Given the description of an element on the screen output the (x, y) to click on. 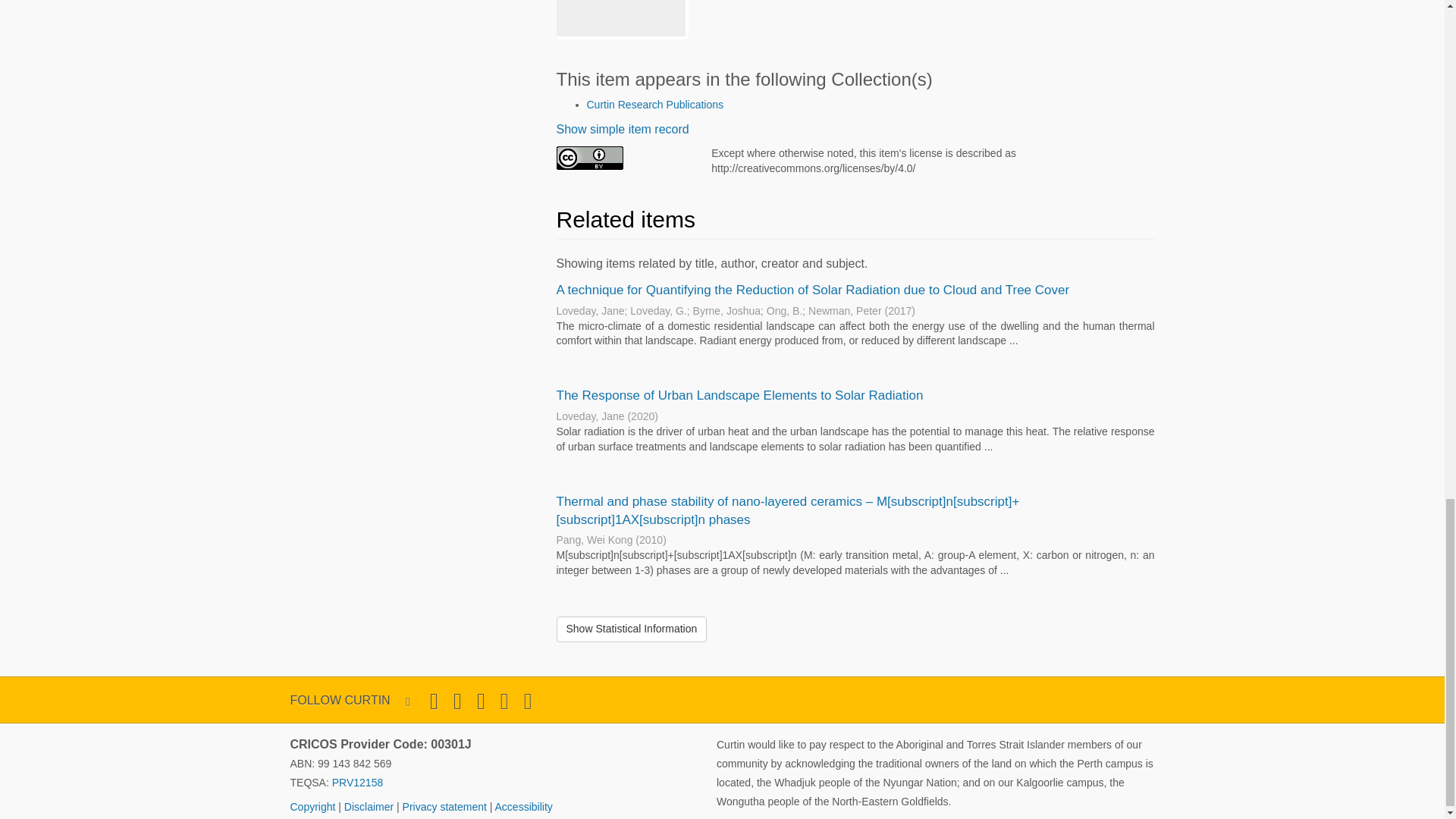
Curtin Research Publications (654, 104)
The Response of Urban Landscape Elements to Solar Radiation (739, 395)
Show Statistical Information (631, 629)
Show simple item record (622, 128)
